Given the description of an element on the screen output the (x, y) to click on. 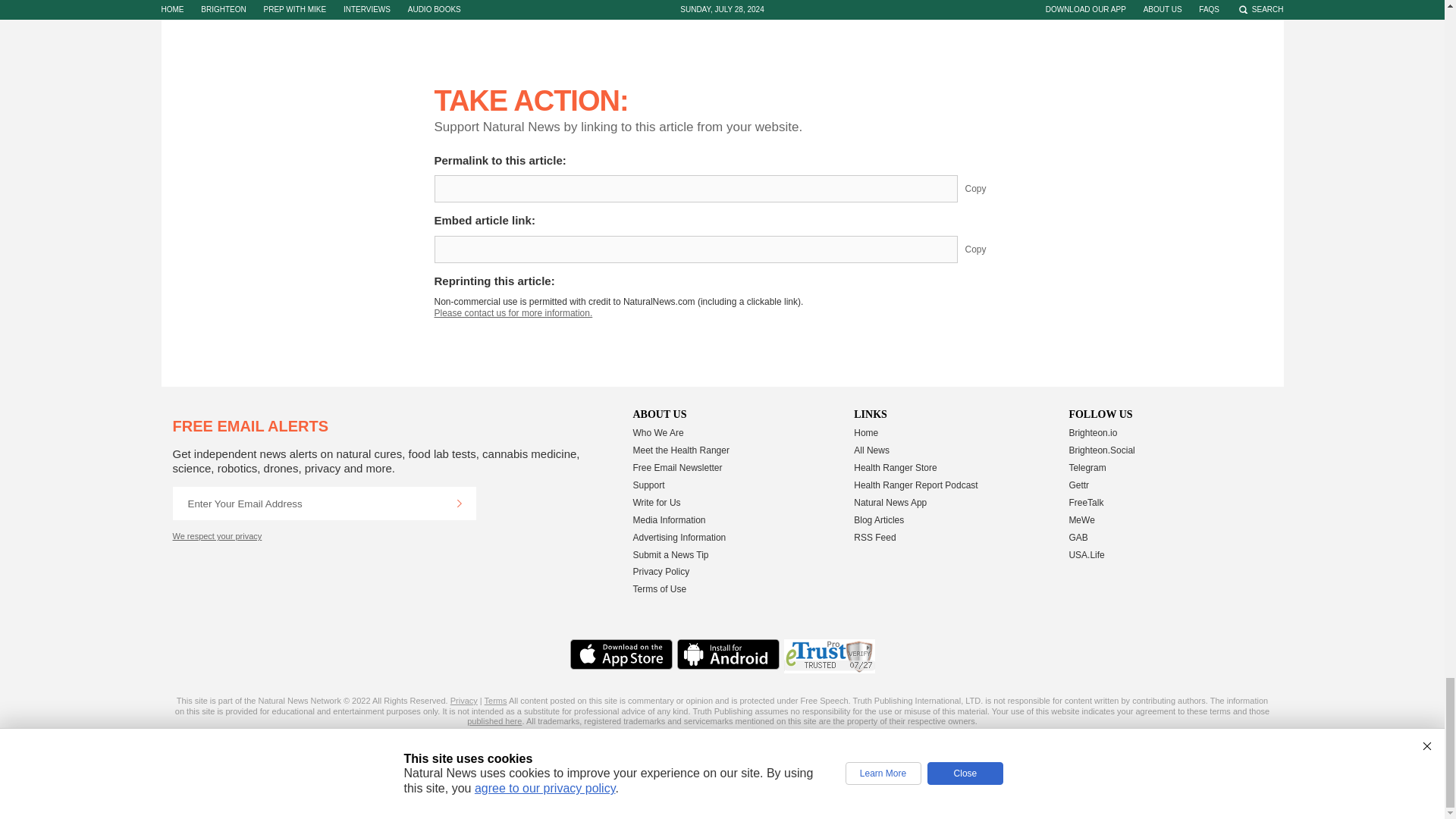
Copy Embed Link (986, 248)
Copy Permalink (986, 188)
eTrust Pro Certified (829, 656)
Continue (459, 503)
